Given the description of an element on the screen output the (x, y) to click on. 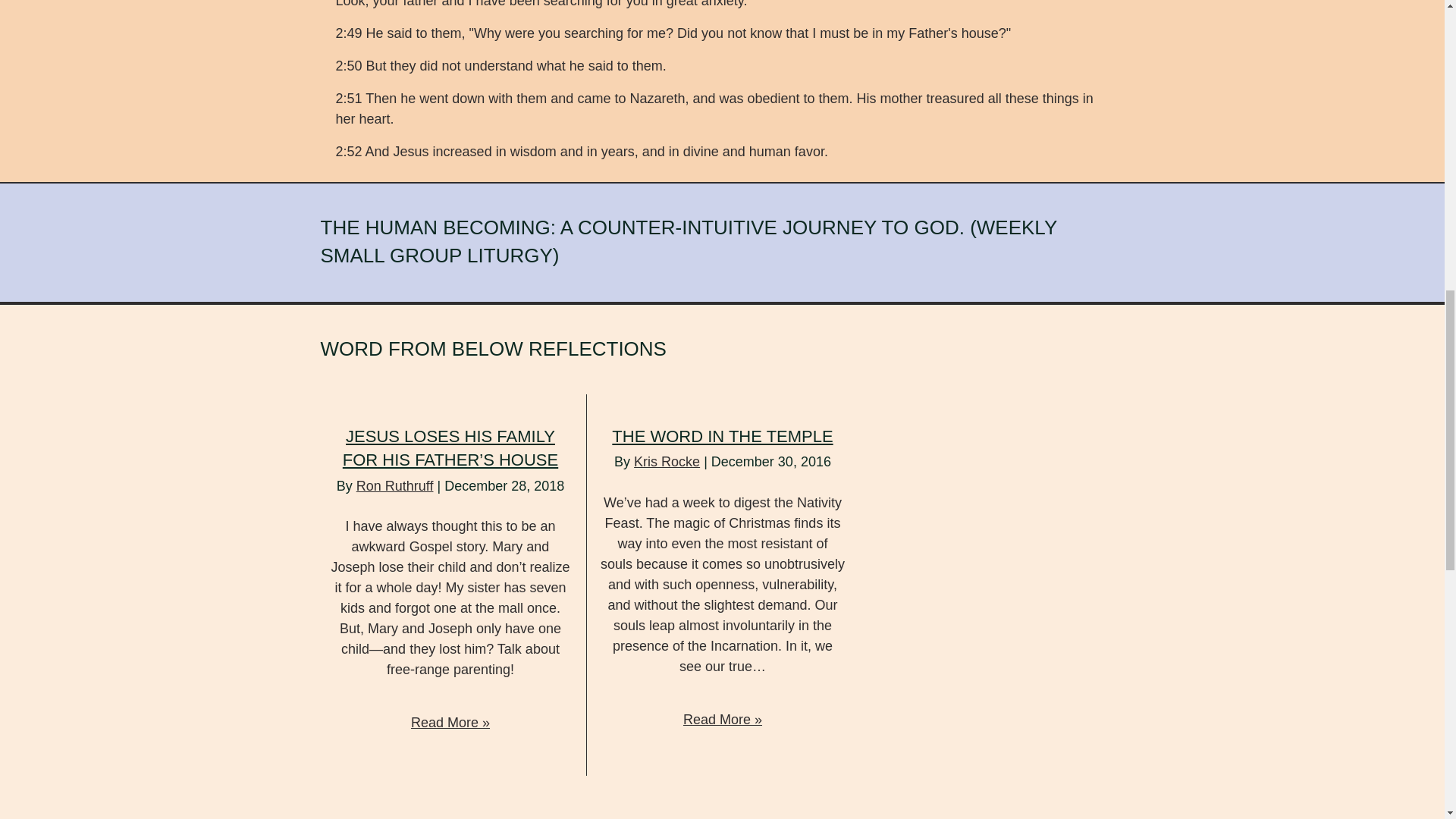
Ron Ruthruff (394, 485)
The Word in the Temple (721, 435)
THE WORD IN THE TEMPLE (721, 435)
Kris Rocke (666, 461)
